Given the description of an element on the screen output the (x, y) to click on. 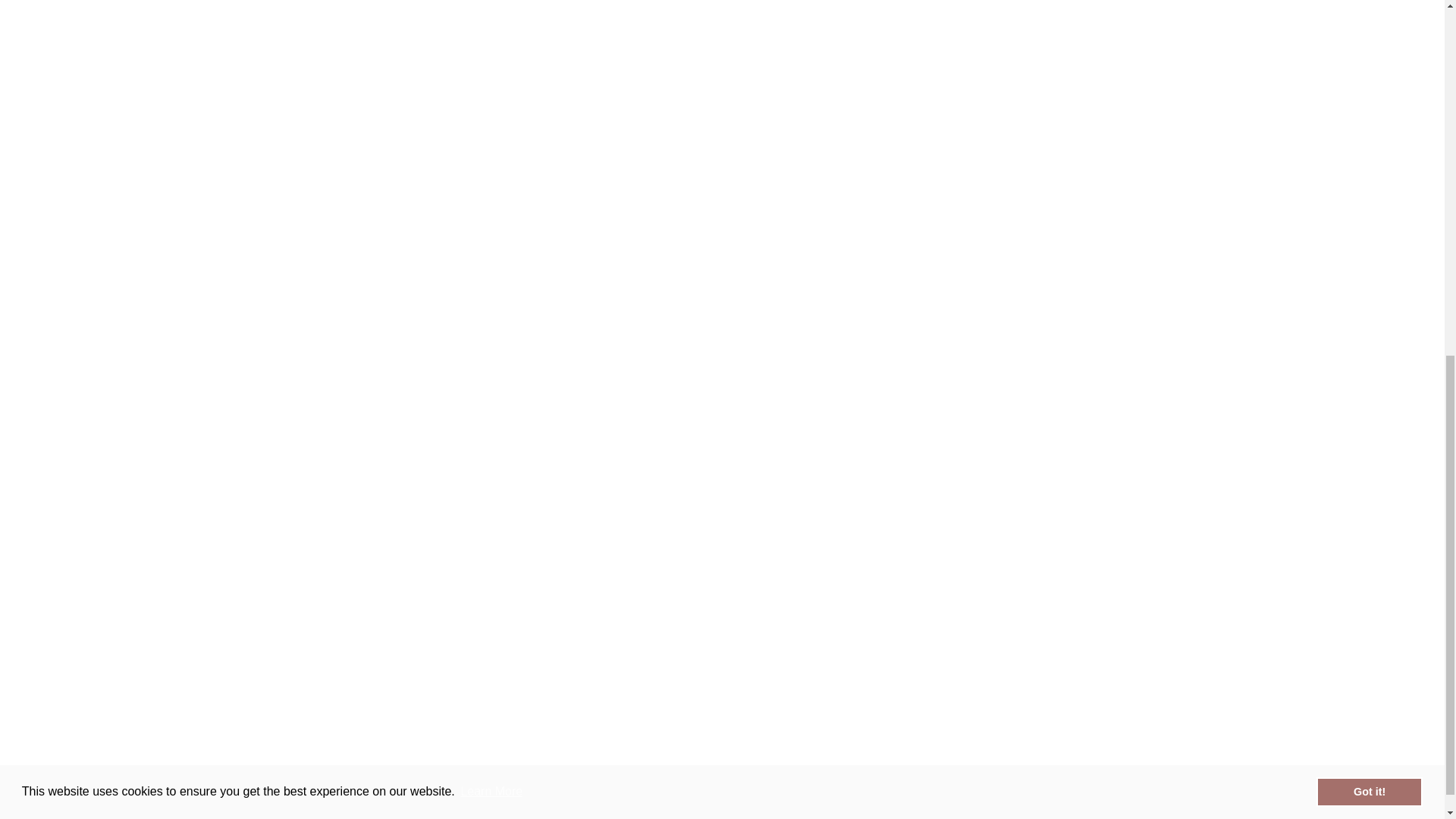
Learn More (491, 146)
Got it! (1369, 146)
